Given the description of an element on the screen output the (x, y) to click on. 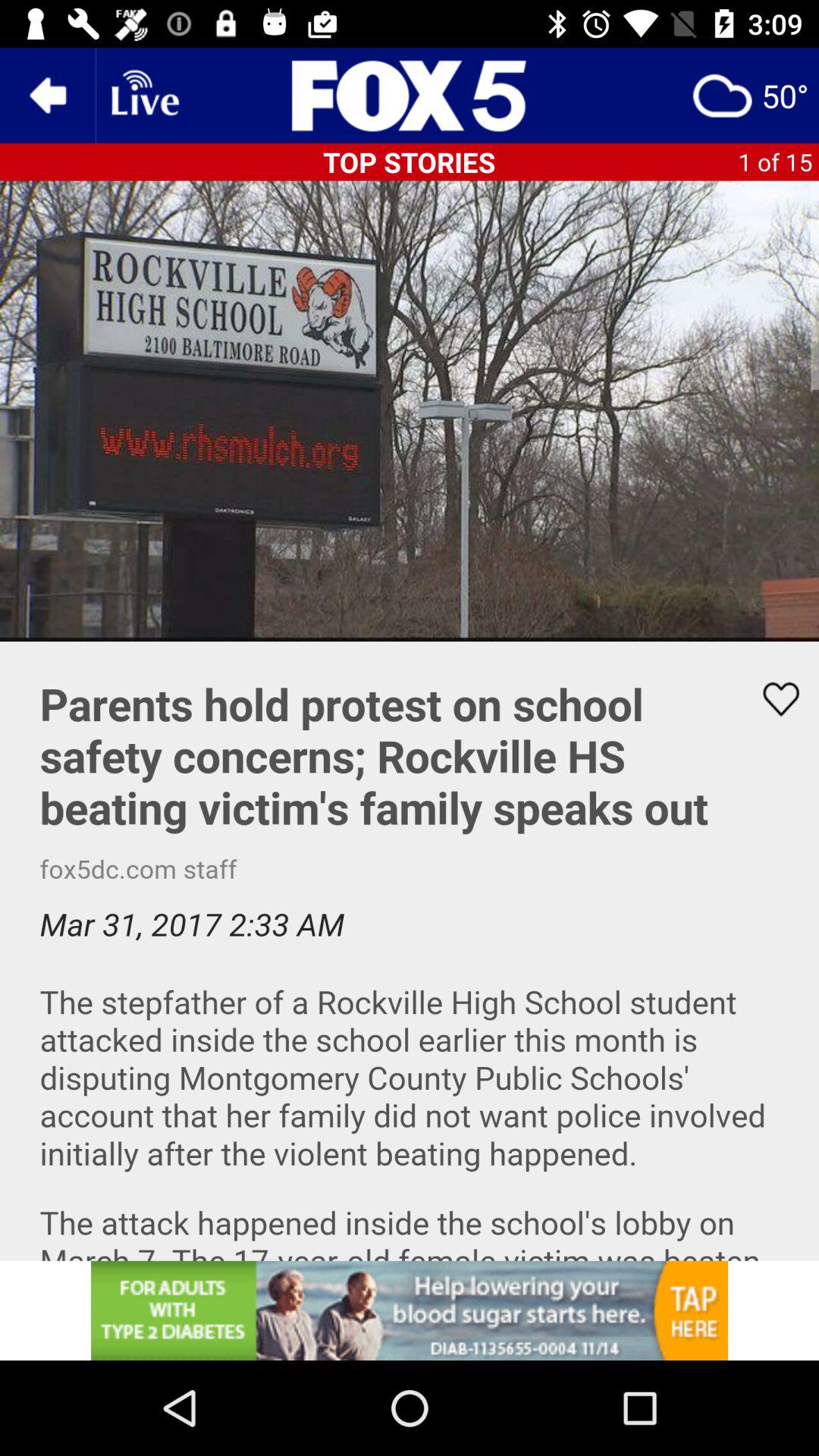
video detail sentions (409, 950)
